Given the description of an element on the screen output the (x, y) to click on. 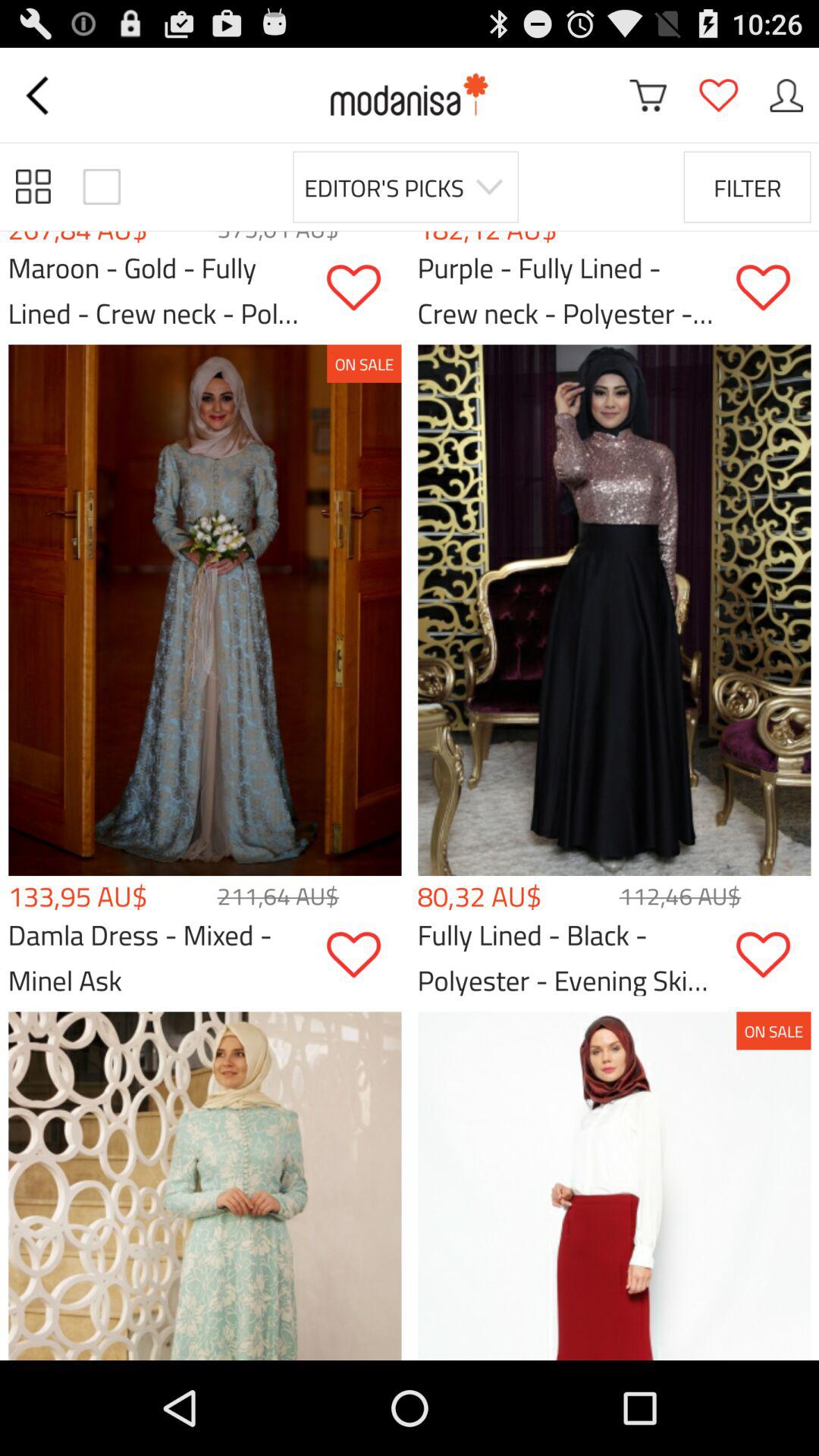
toggle about me option (786, 95)
